Given the description of an element on the screen output the (x, y) to click on. 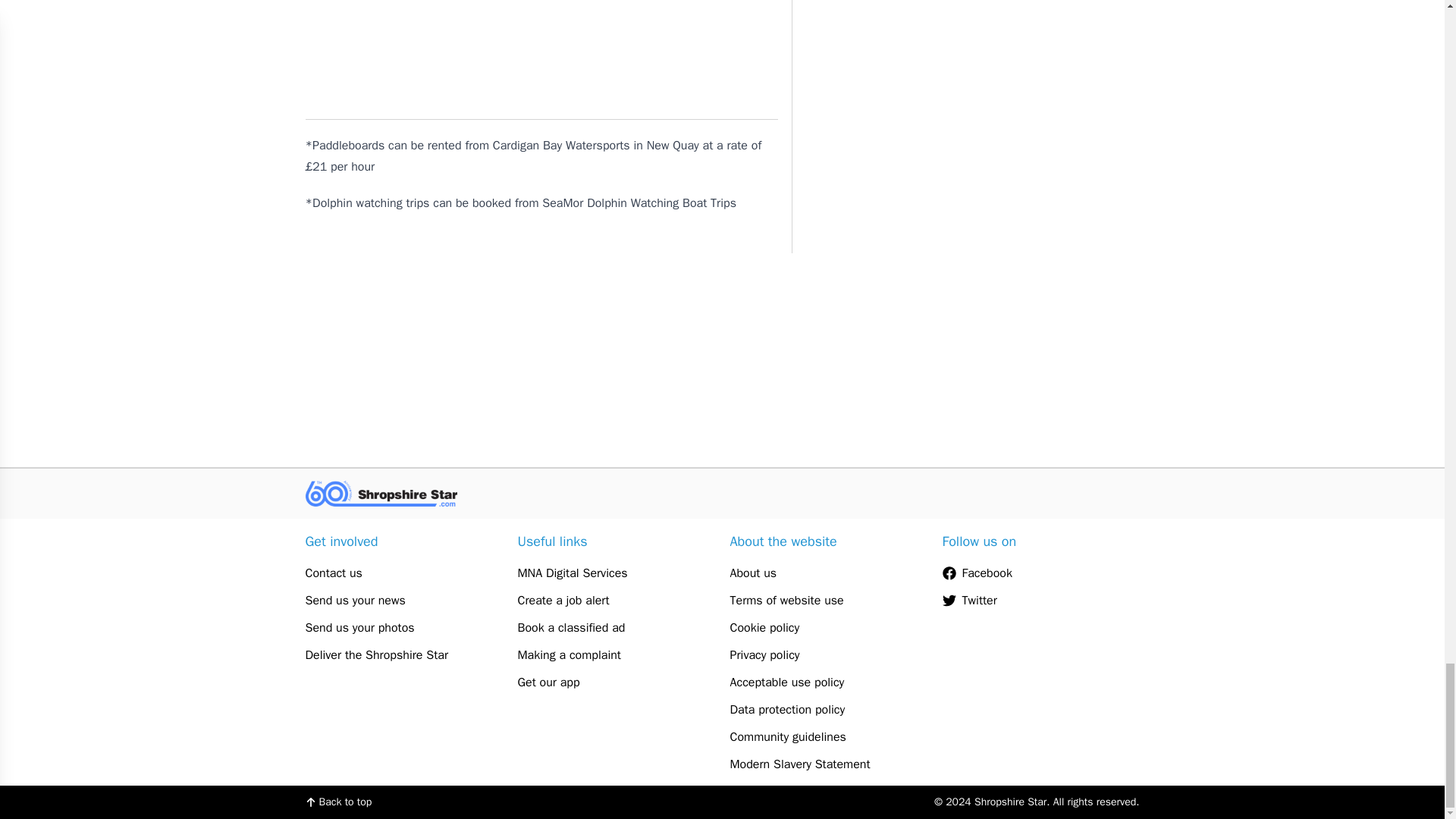
Contact us (403, 573)
